Given the description of an element on the screen output the (x, y) to click on. 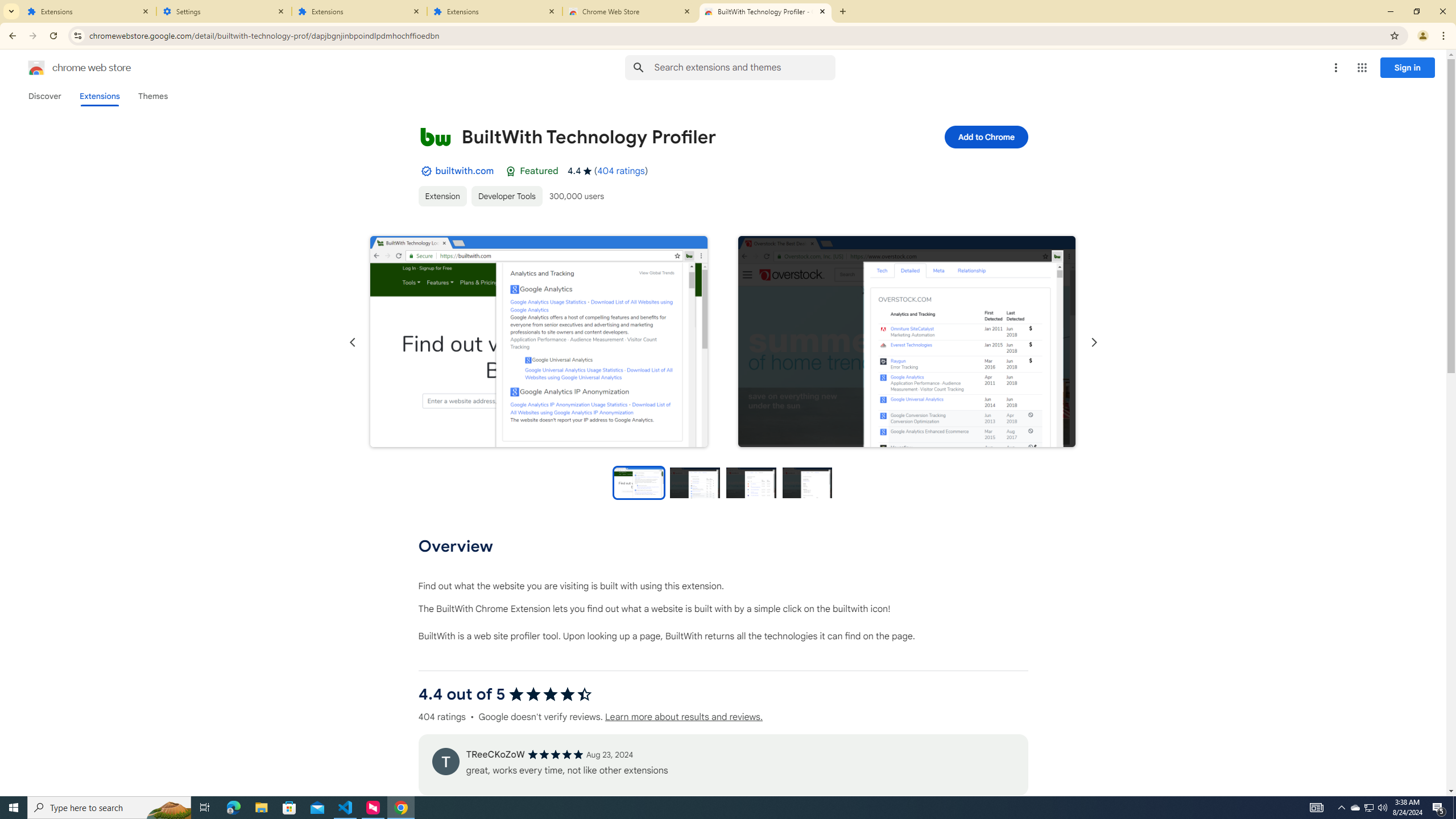
Themes (152, 95)
Item media 1 screenshot (538, 342)
Extensions (99, 95)
Chrome Web Store logo (36, 67)
Item media 1 screenshot (538, 341)
Extensions (359, 11)
Settings (224, 11)
Search input (744, 67)
Review's profile picture (445, 760)
